Given the description of an element on the screen output the (x, y) to click on. 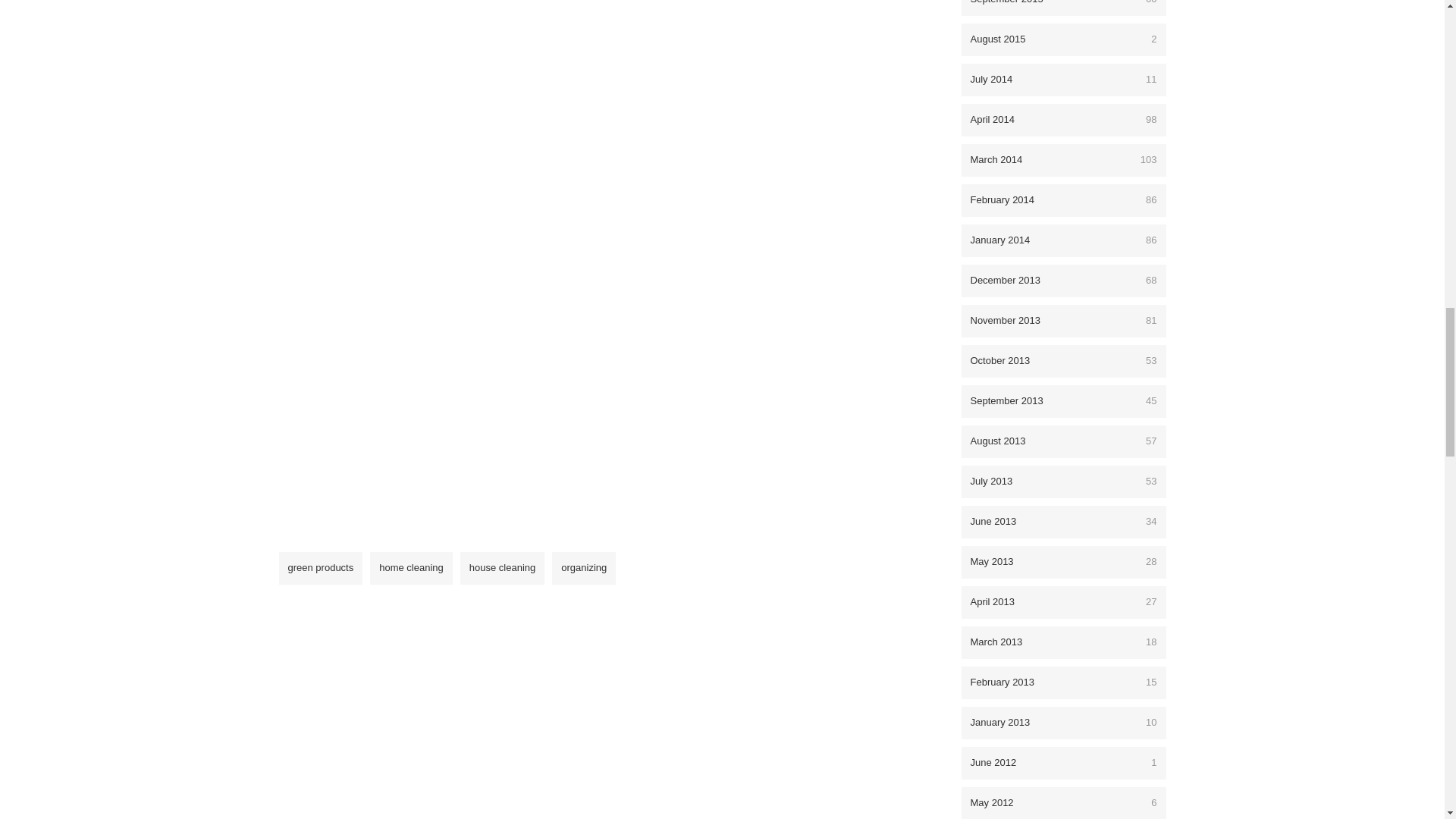
View all posts filed under organizing (583, 568)
View all posts filed under home cleaning (410, 568)
View all posts filed under house cleaning (502, 568)
View all posts filed under green products (320, 568)
